Given the description of an element on the screen output the (x, y) to click on. 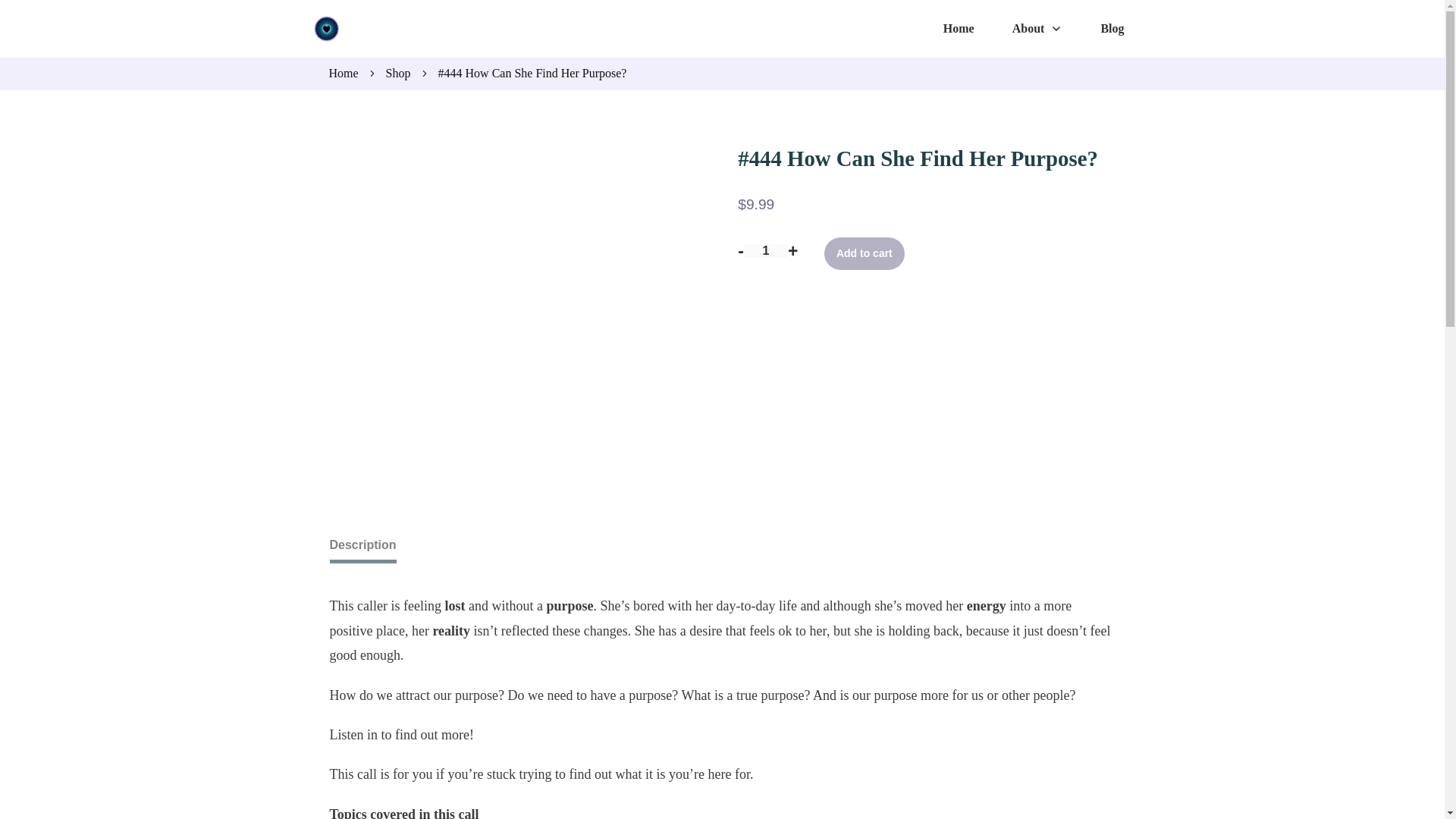
Blog (1112, 28)
About (1036, 28)
Add to cart (864, 254)
Shop (397, 74)
Home (958, 28)
Home (343, 74)
1 (765, 250)
Description (362, 544)
